Given the description of an element on the screen output the (x, y) to click on. 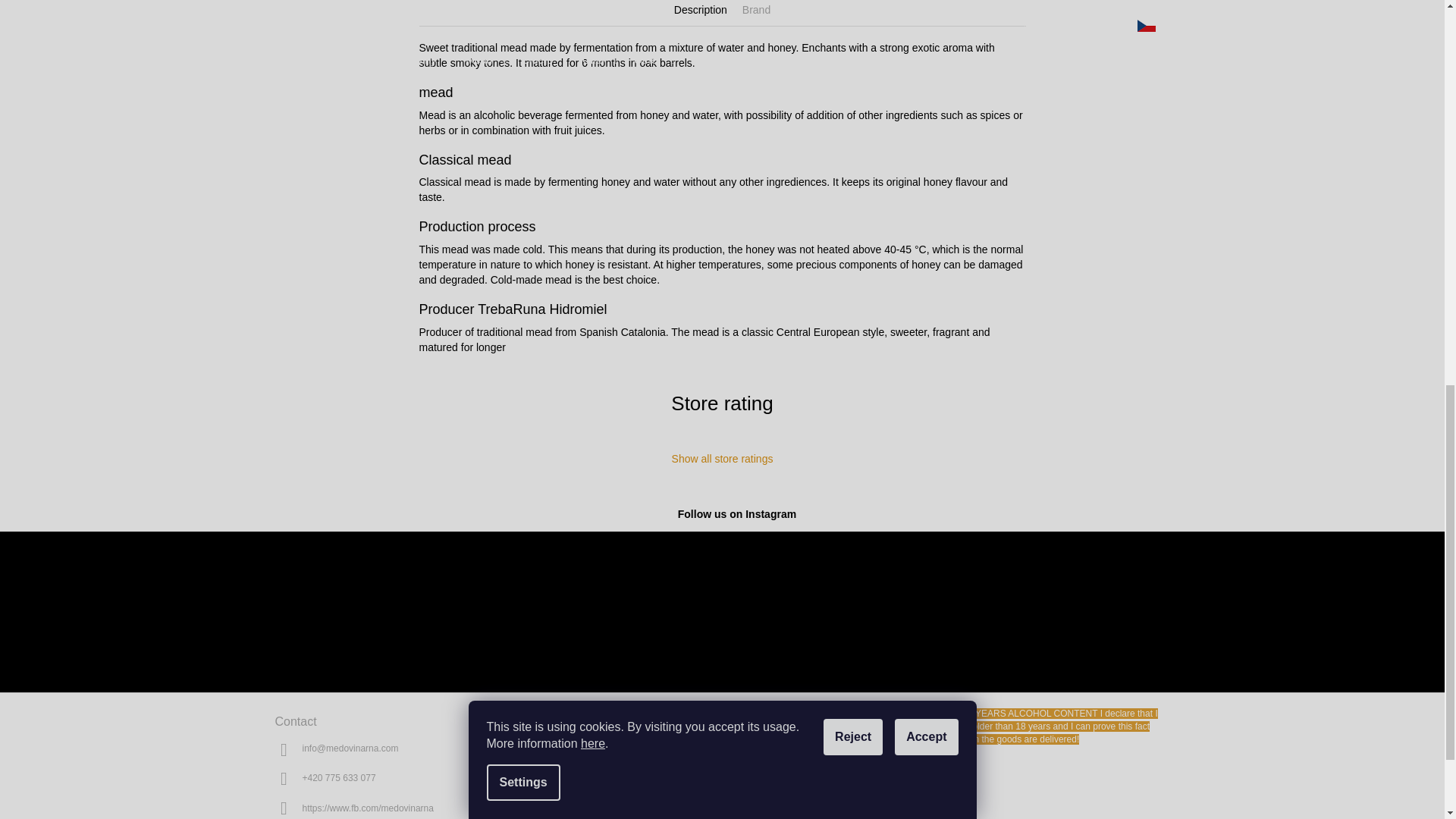
Facebook (366, 807)
Phone (338, 778)
